Given the description of an element on the screen output the (x, y) to click on. 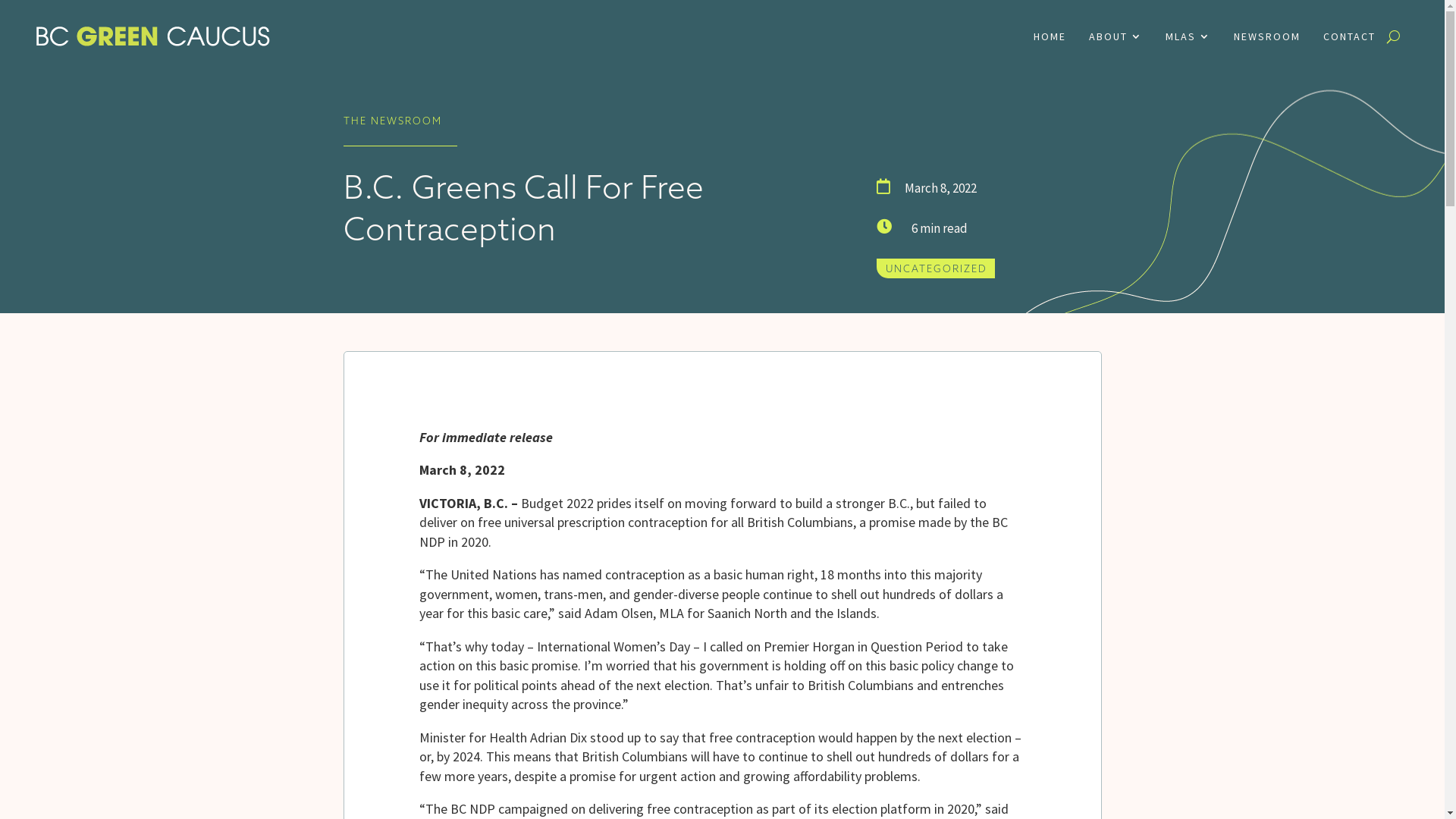
UNCATEGORIZED Element type: text (936, 268)
CONTACT Element type: text (1349, 36)
ABOUT Element type: text (1115, 36)
NEWSROOM Element type: text (1266, 36)
HOME Element type: text (1049, 36)
MLAS Element type: text (1188, 36)
